Given the description of an element on the screen output the (x, y) to click on. 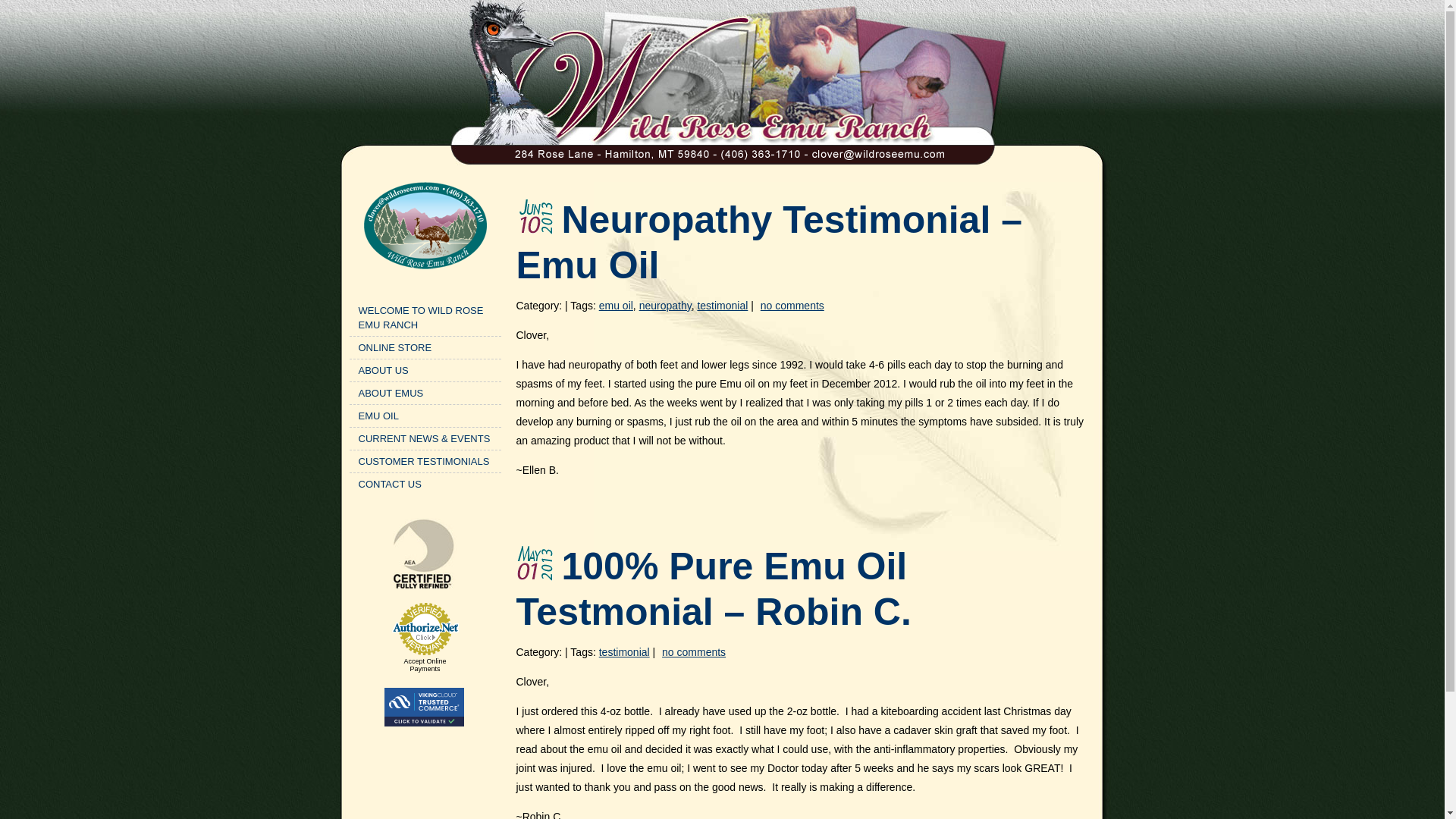
ABOUT US (424, 370)
testimonial (722, 305)
emu oil (615, 305)
ABOUT EMUS (424, 393)
no comments (792, 305)
EMU OIL (424, 415)
testimonial (623, 652)
WELCOME TO WILD ROSE EMU RANCH (424, 317)
CUSTOMER TESTIMONIALS (424, 461)
ONLINE STORE (424, 347)
no comments (693, 652)
neuropathy (665, 305)
Accept Online Payments (424, 664)
CONTACT US (424, 484)
